Given the description of an element on the screen output the (x, y) to click on. 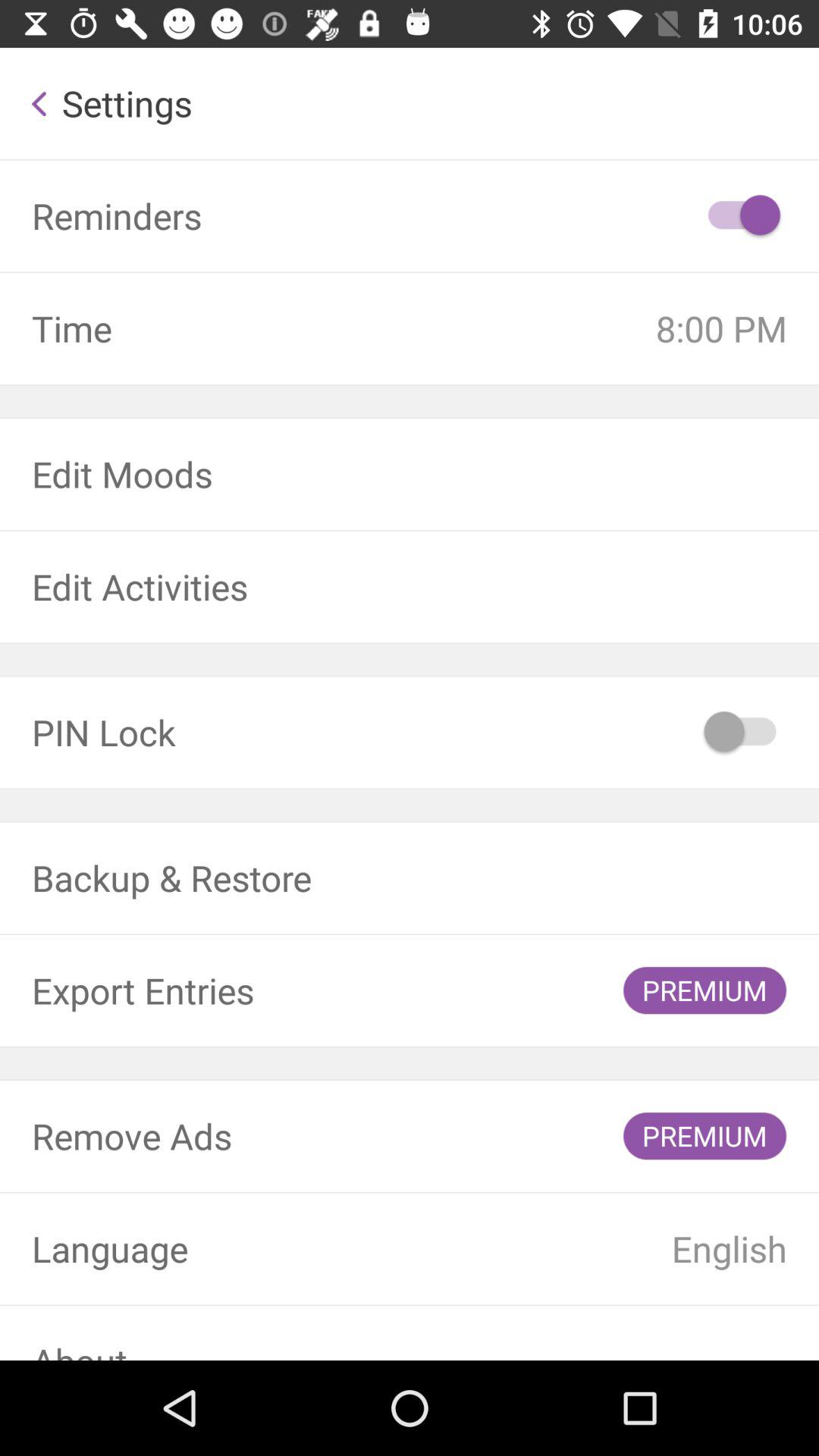
toggle to turn reminders on or off (742, 216)
